Given the description of an element on the screen output the (x, y) to click on. 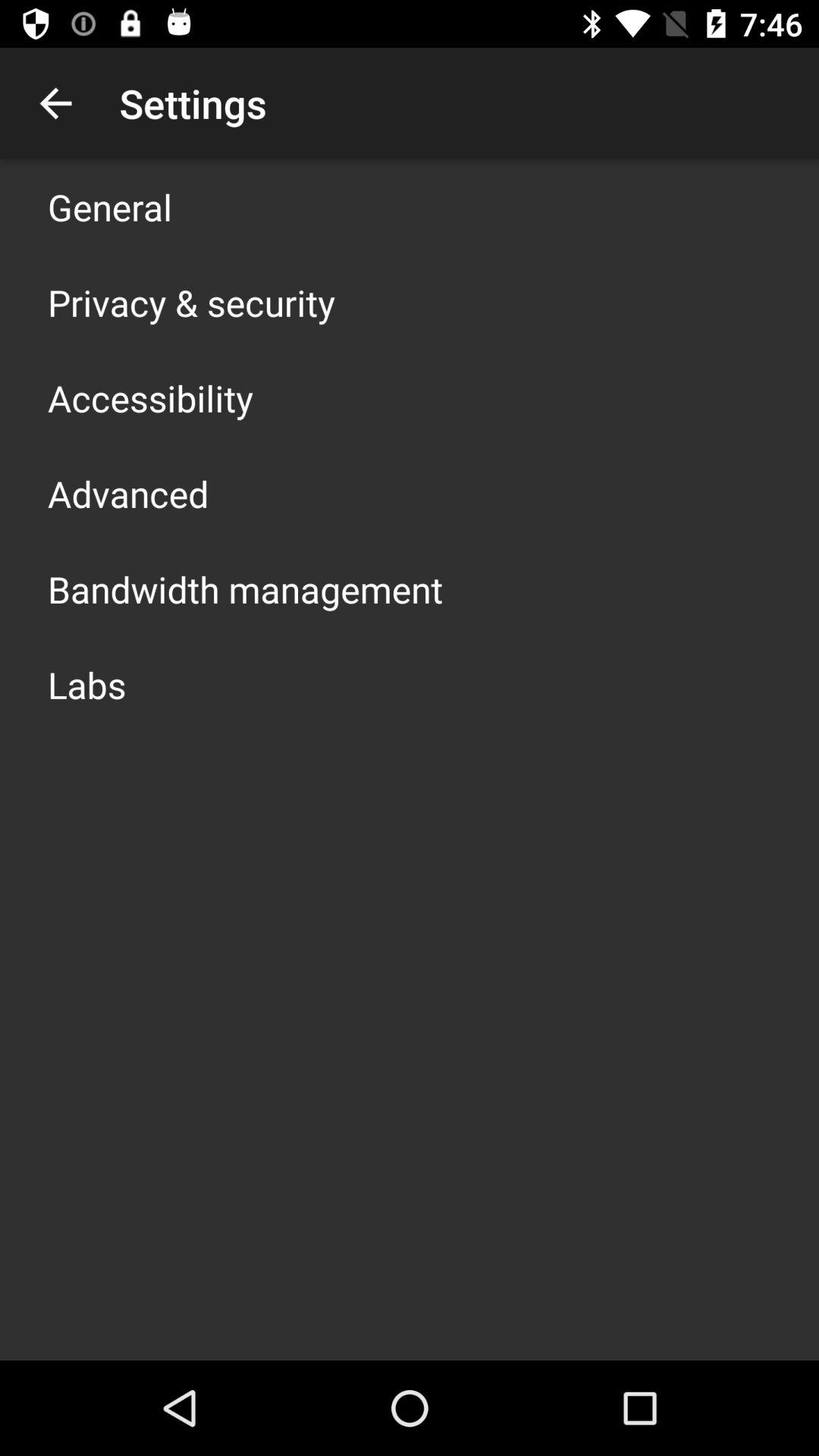
turn on app above general app (55, 103)
